Given the description of an element on the screen output the (x, y) to click on. 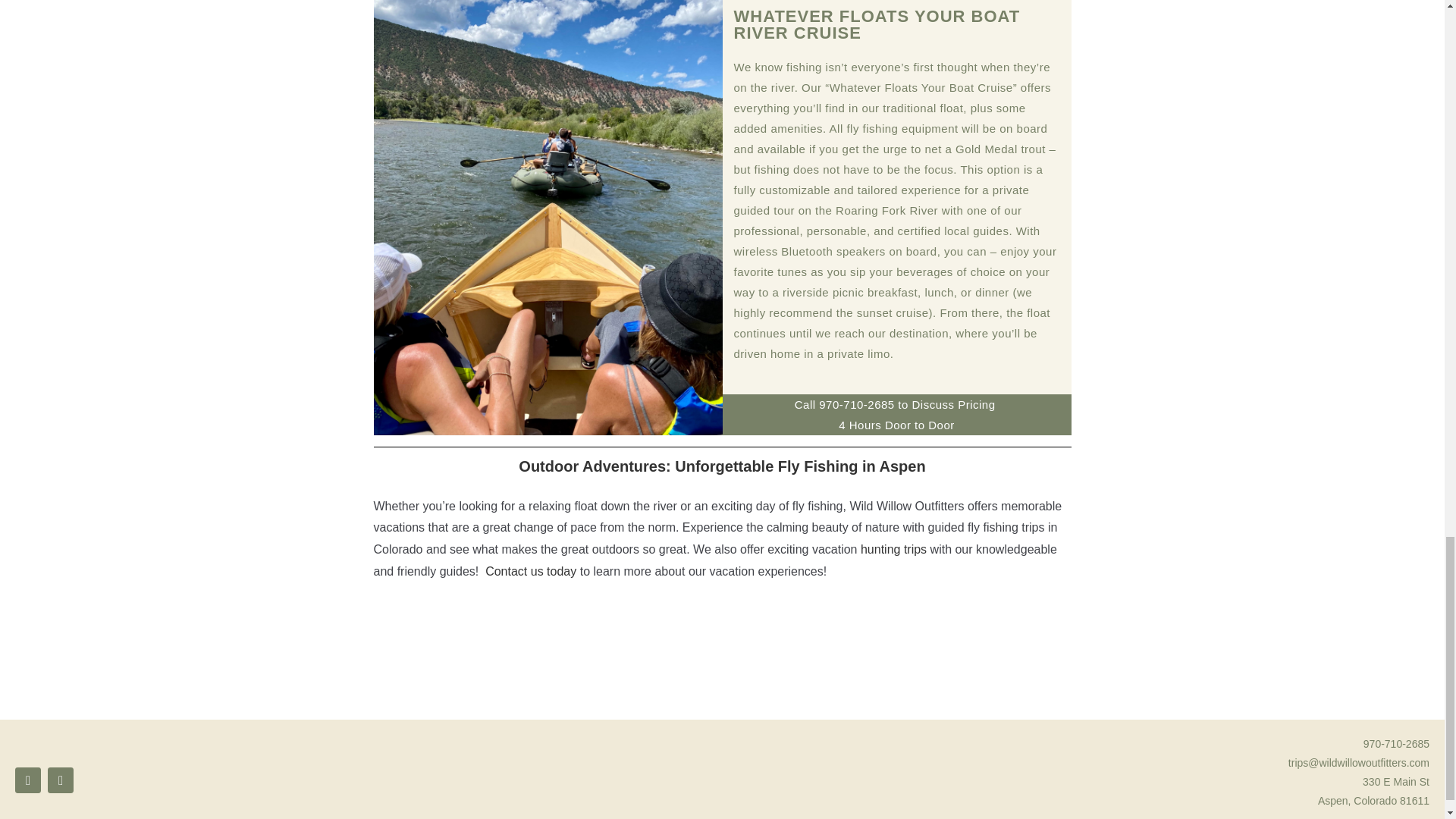
hunting trips (893, 549)
Contact us today (530, 571)
